Given the description of an element on the screen output the (x, y) to click on. 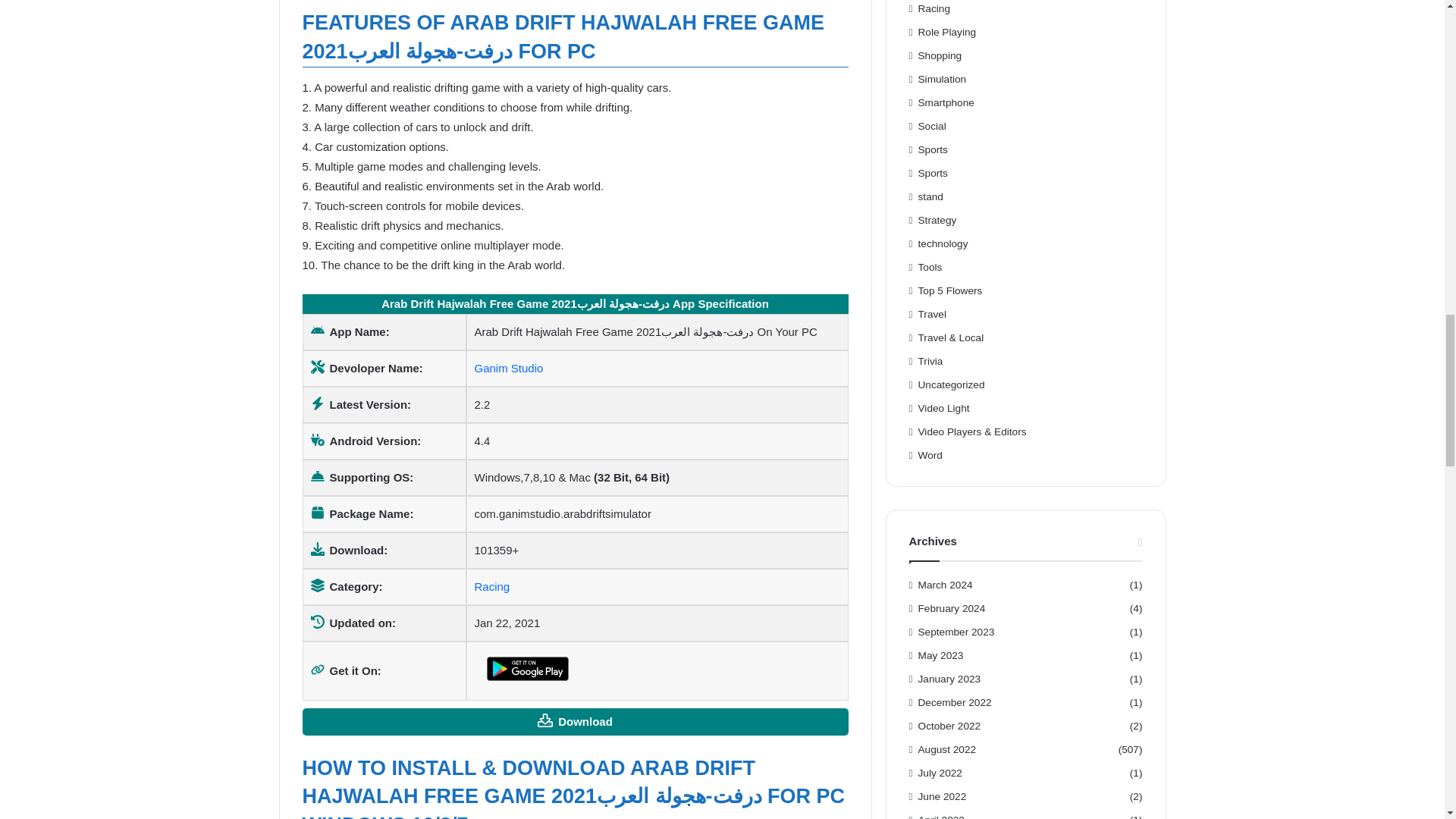
Racing (492, 585)
Ganim Studio (508, 367)
Download (574, 721)
